Given the description of an element on the screen output the (x, y) to click on. 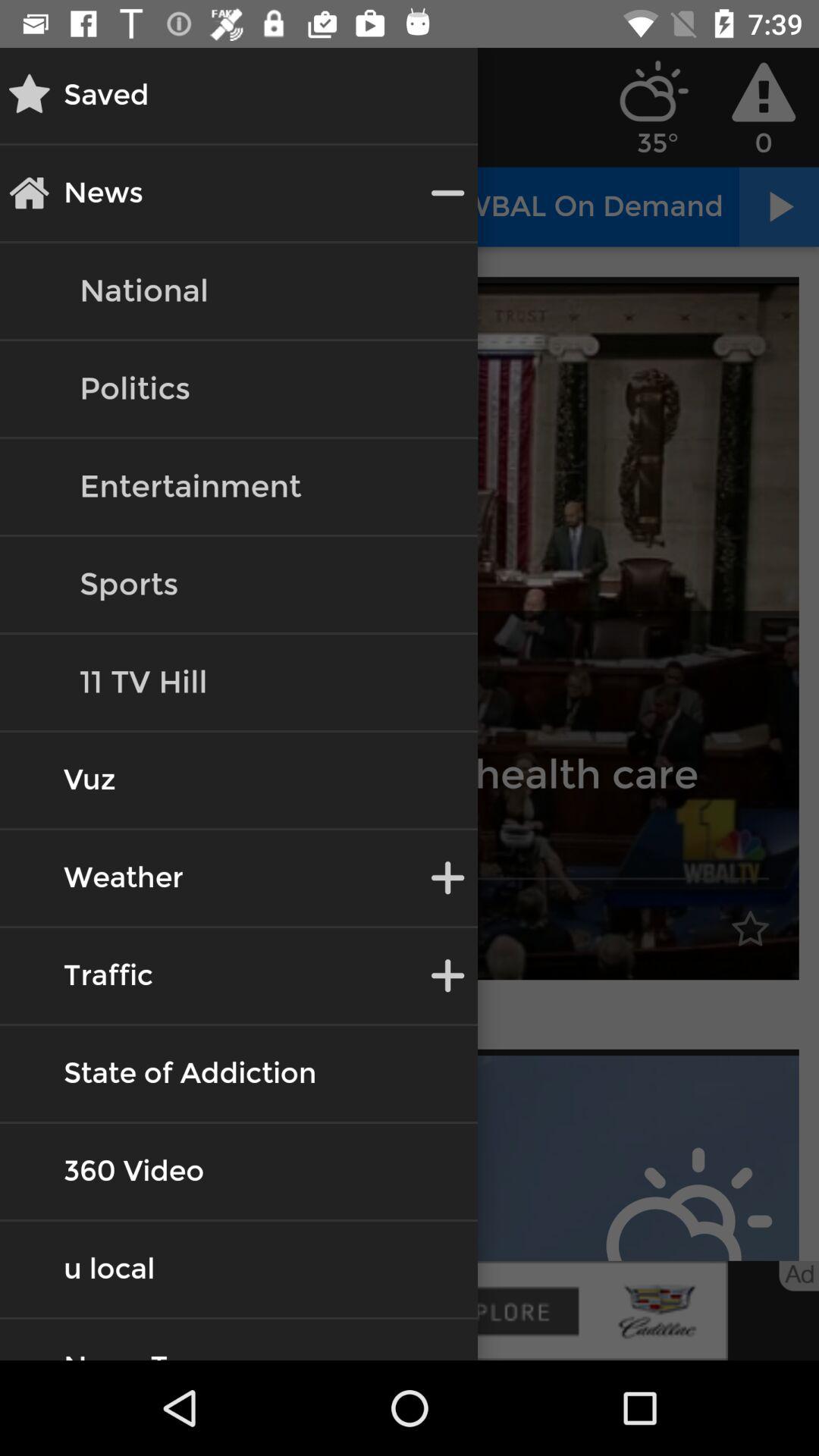
click on the text weather (123, 877)
click on  beside traffic (447, 975)
go to the star symbol on the image (750, 929)
improper tagging (409, 1157)
